Given the description of an element on the screen output the (x, y) to click on. 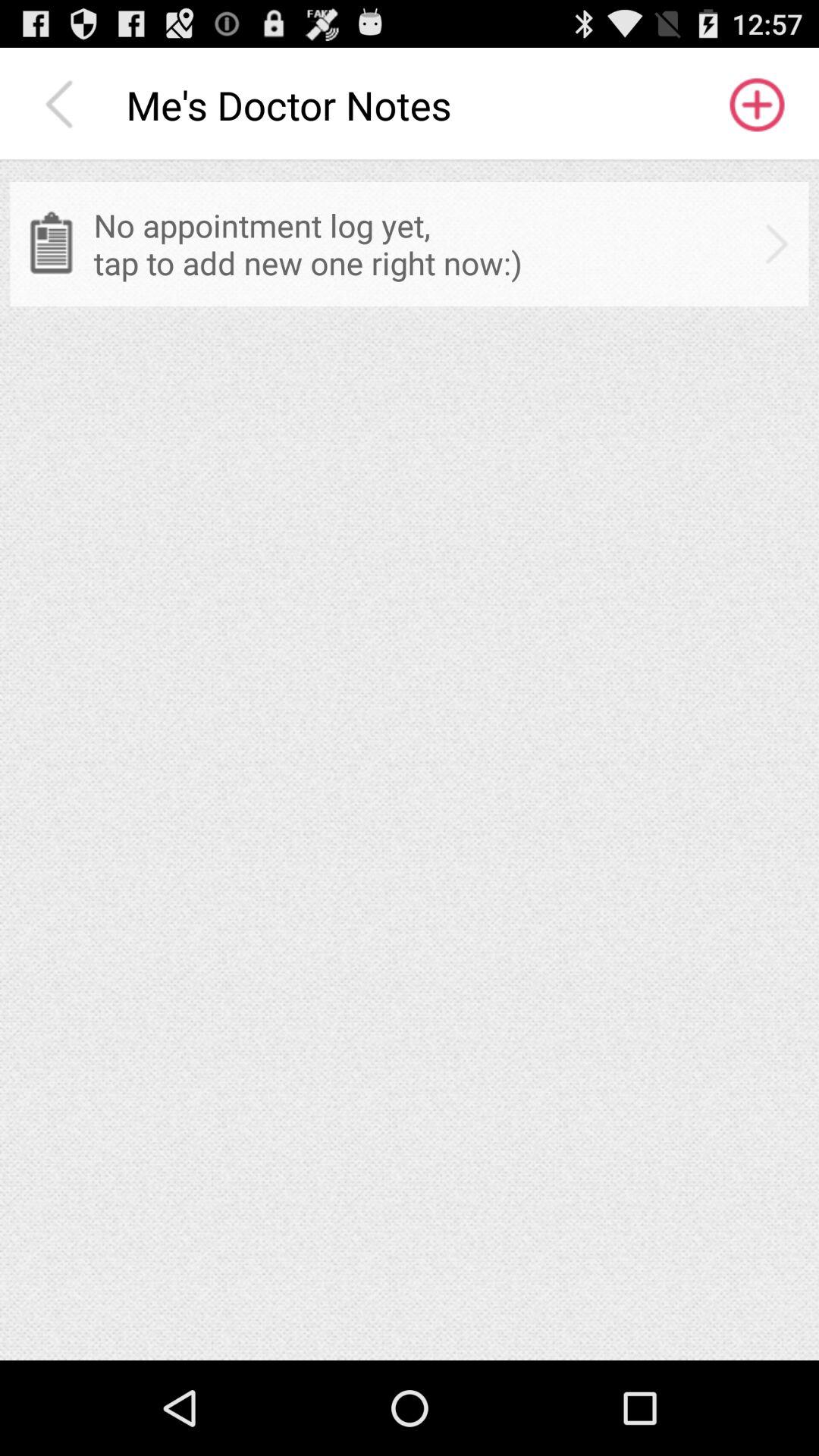
select the item to the left of the me s doctor icon (63, 104)
